Given the description of an element on the screen output the (x, y) to click on. 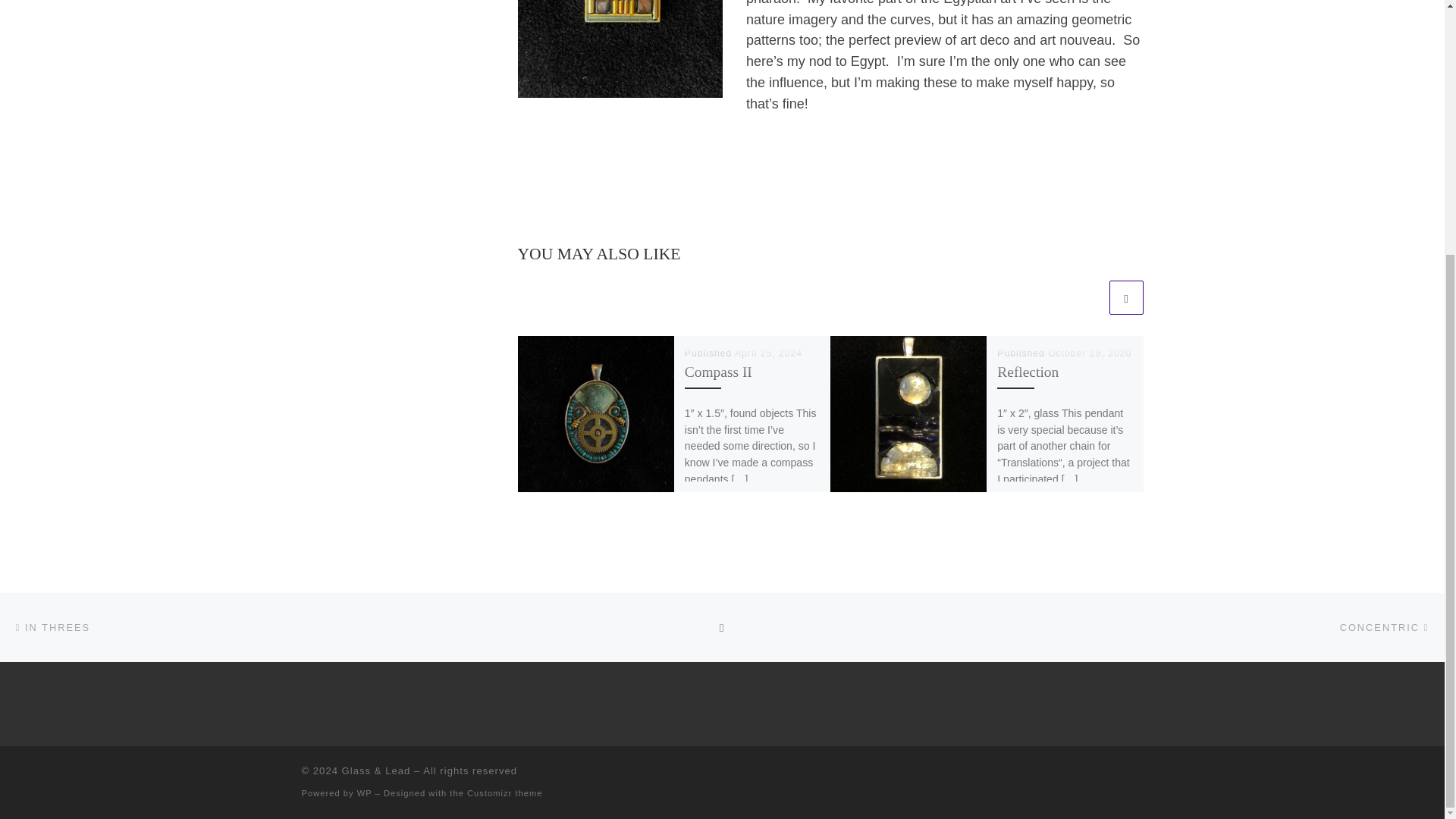
Next related articles (1125, 297)
Compass II (718, 371)
Previous related articles (1088, 297)
April 25, 2024 (768, 353)
